Given the description of an element on the screen output the (x, y) to click on. 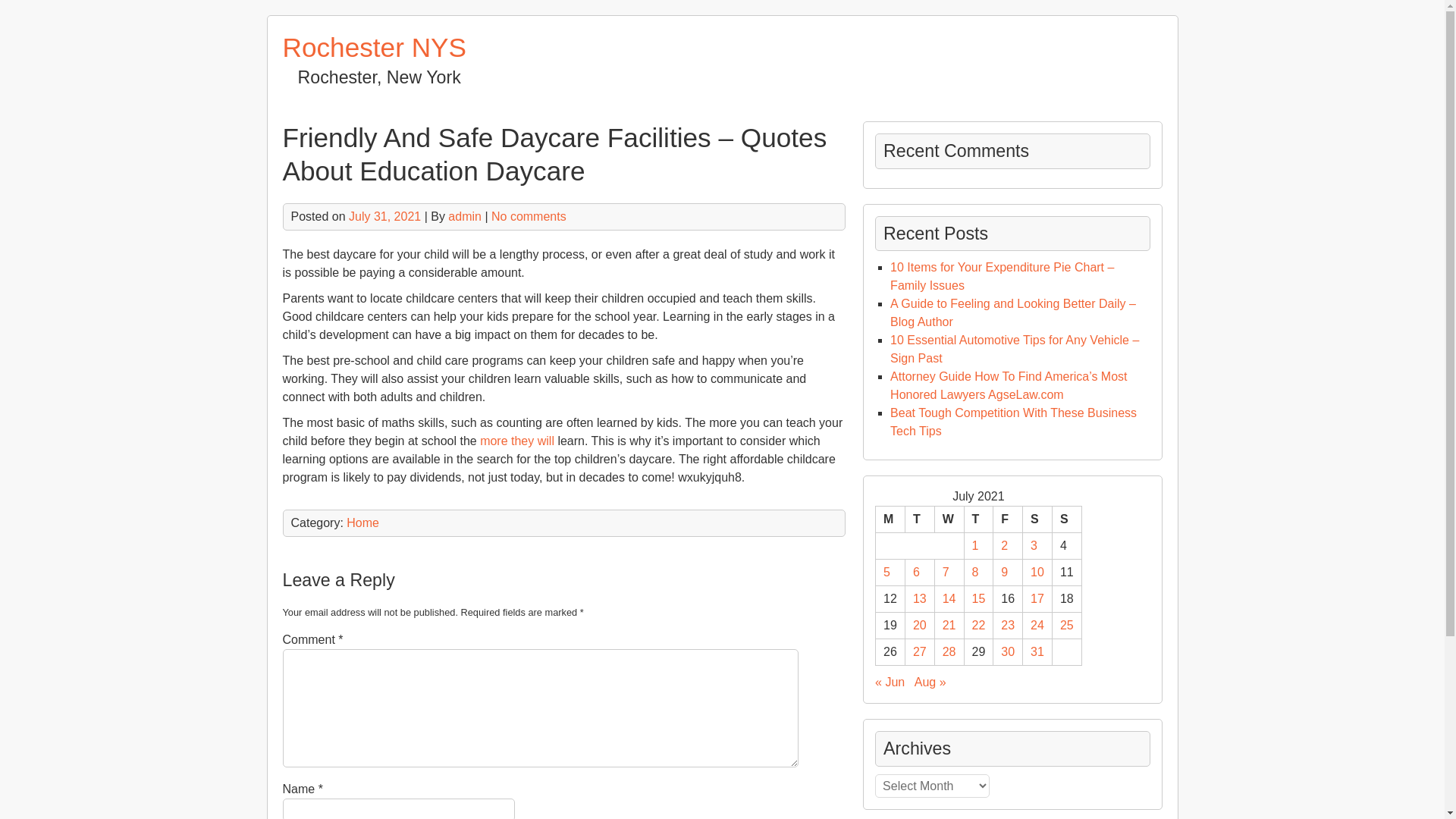
Rochester NYS (373, 47)
22 (978, 625)
Sunday (1066, 519)
admin (464, 215)
21 (949, 625)
20 (919, 625)
more they will (517, 440)
10 (1036, 571)
July 31, 2021 (384, 215)
Saturday (1037, 519)
